Given the description of an element on the screen output the (x, y) to click on. 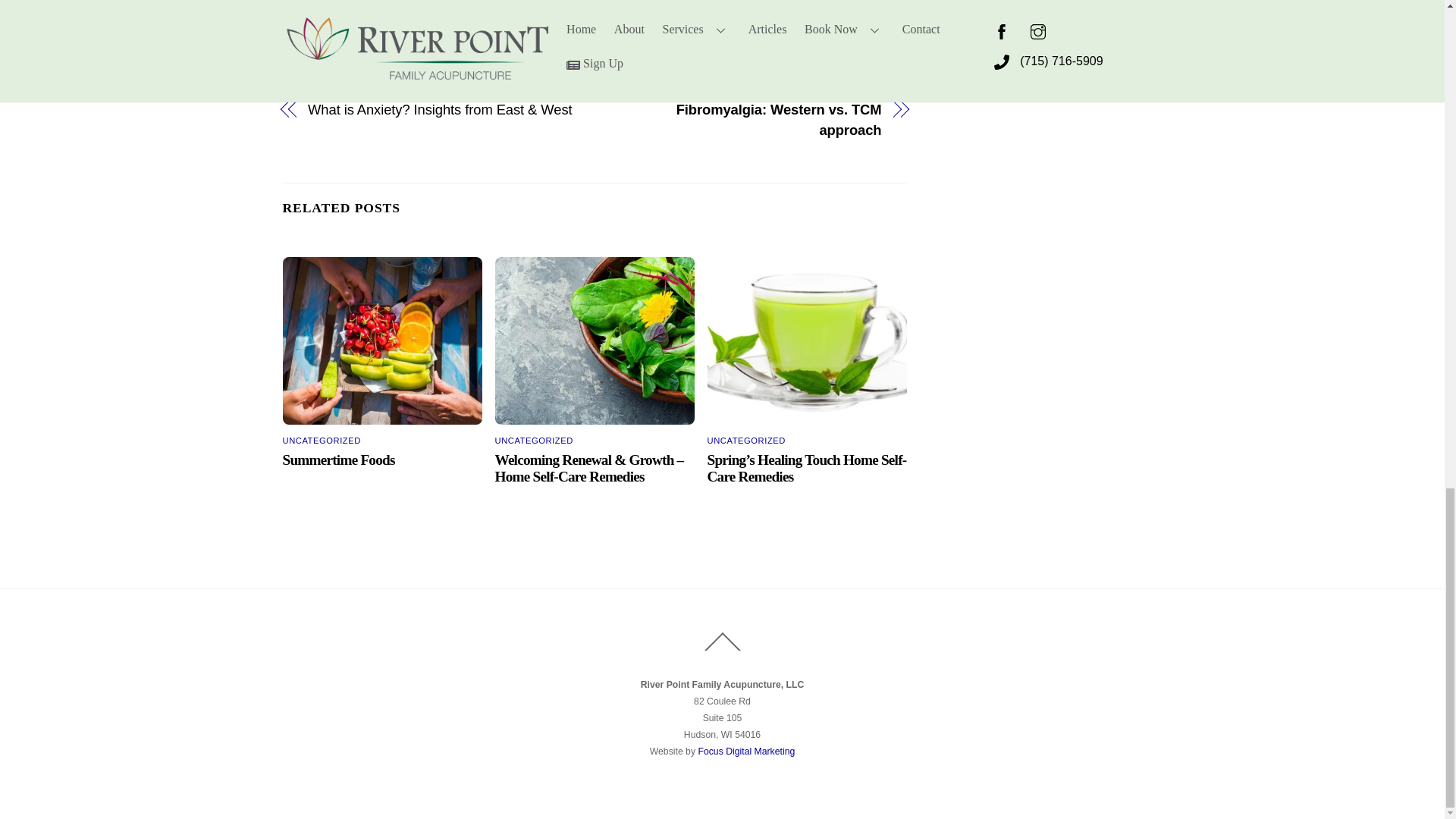
spring-dandelion-salad (595, 341)
summertime-foods (381, 341)
self-home-care---green-tea (807, 341)
